Given the description of an element on the screen output the (x, y) to click on. 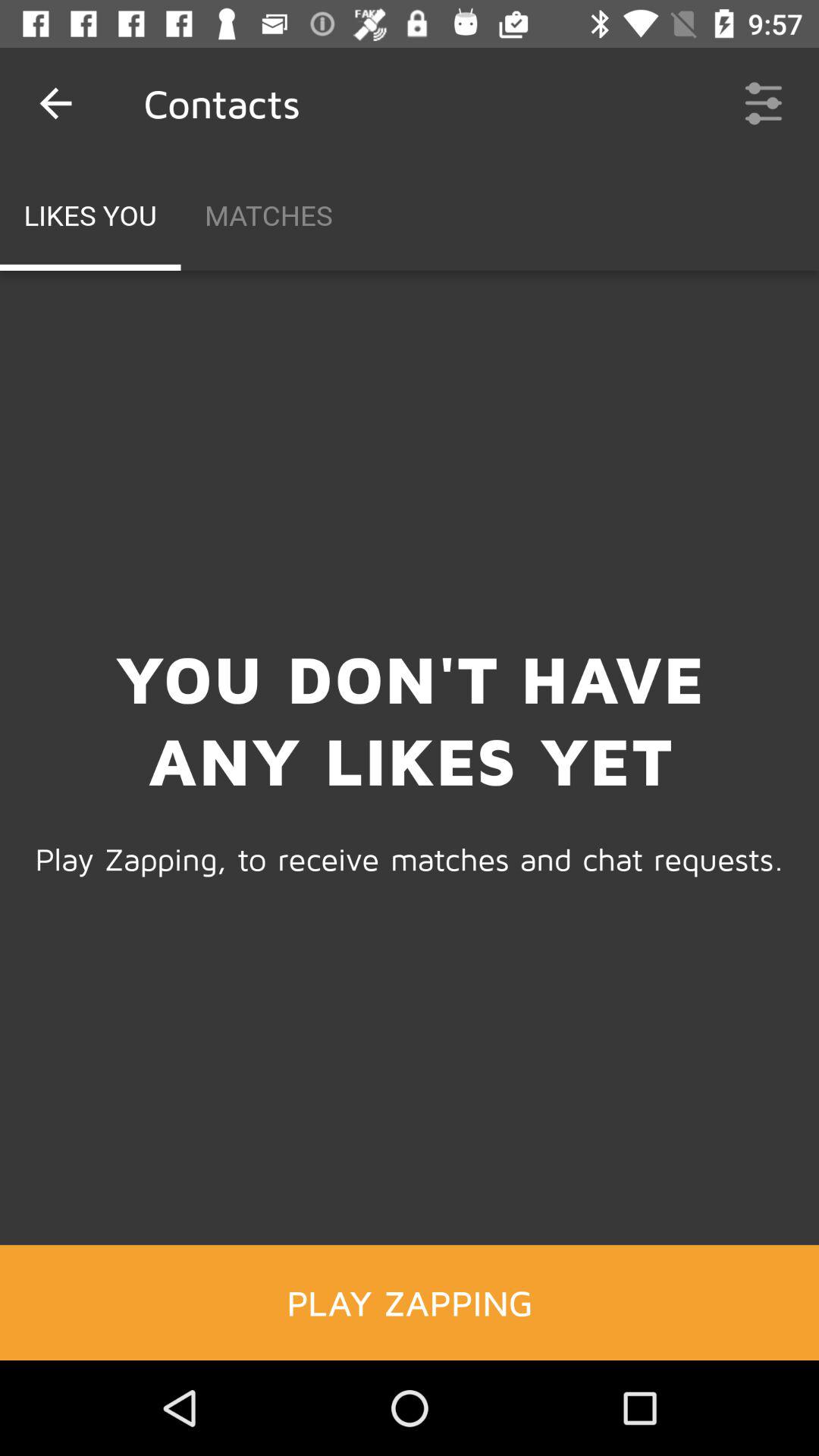
turn on the icon above likes you item (55, 103)
